Given the description of an element on the screen output the (x, y) to click on. 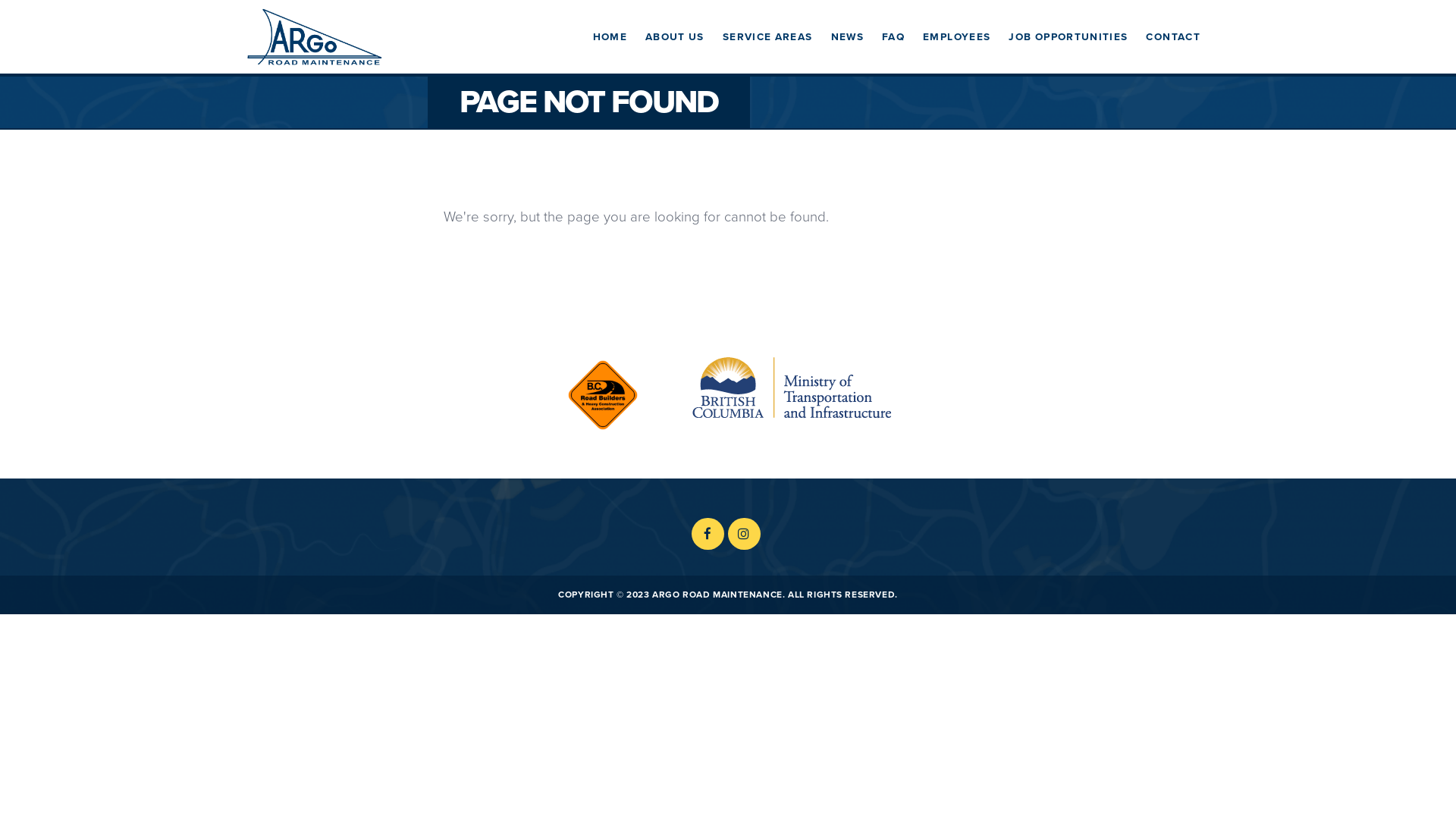
CONTACT Element type: text (1172, 36)
FAQ Element type: text (892, 36)
Argo Road Maintenance Element type: hover (314, 36)
JOB OPPORTUNITIES Element type: text (1067, 36)
ABOUT US Element type: text (674, 36)
HOME Element type: text (609, 36)
NEWS Element type: text (847, 36)
SERVICE AREAS Element type: text (767, 36)
EMPLOYEES Element type: text (956, 36)
